Given the description of an element on the screen output the (x, y) to click on. 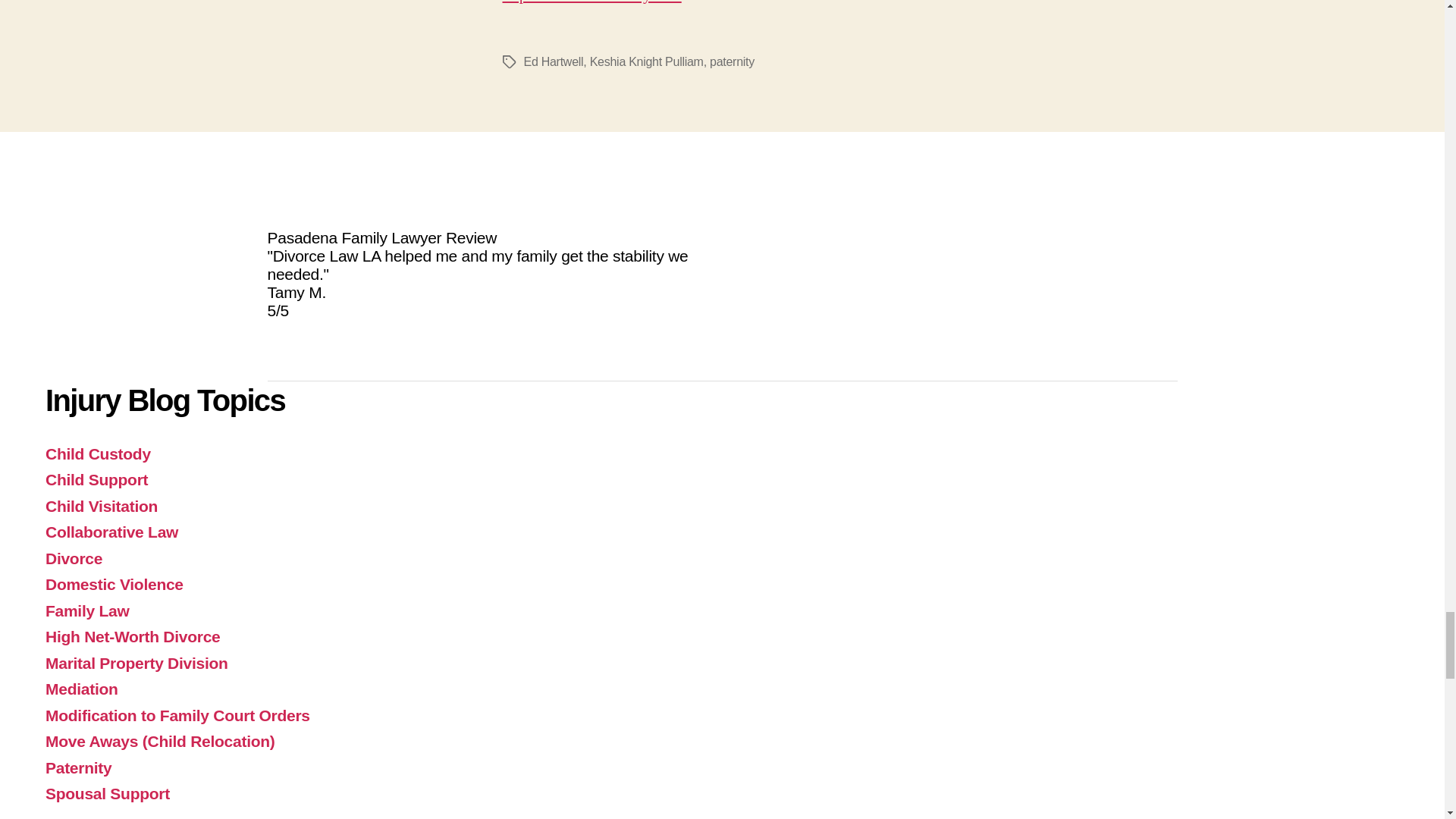
Ed Hartwell (552, 61)
